Given the description of an element on the screen output the (x, y) to click on. 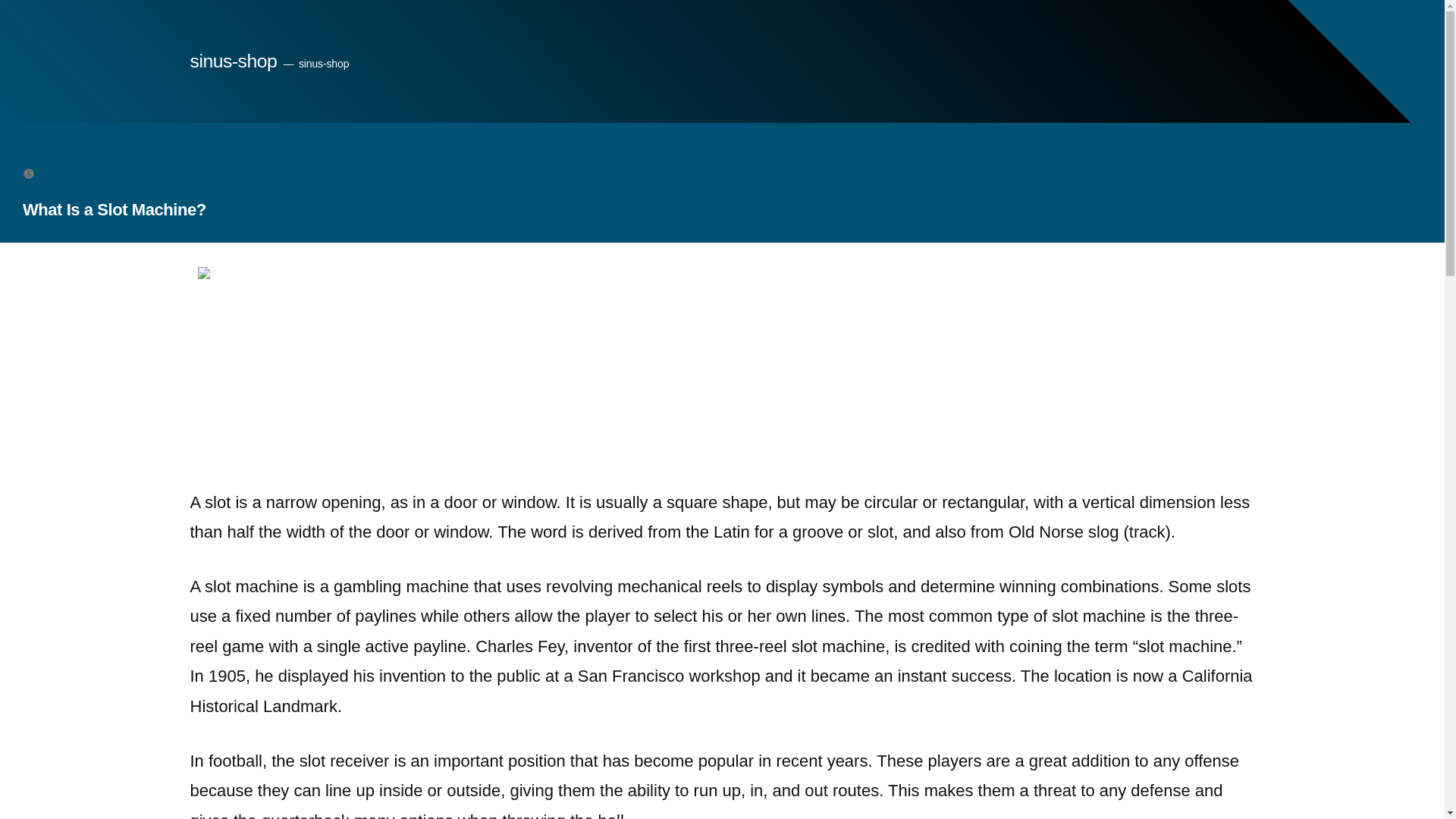
June 14, 2023 (78, 172)
sinus-shop (232, 60)
